Given the description of an element on the screen output the (x, y) to click on. 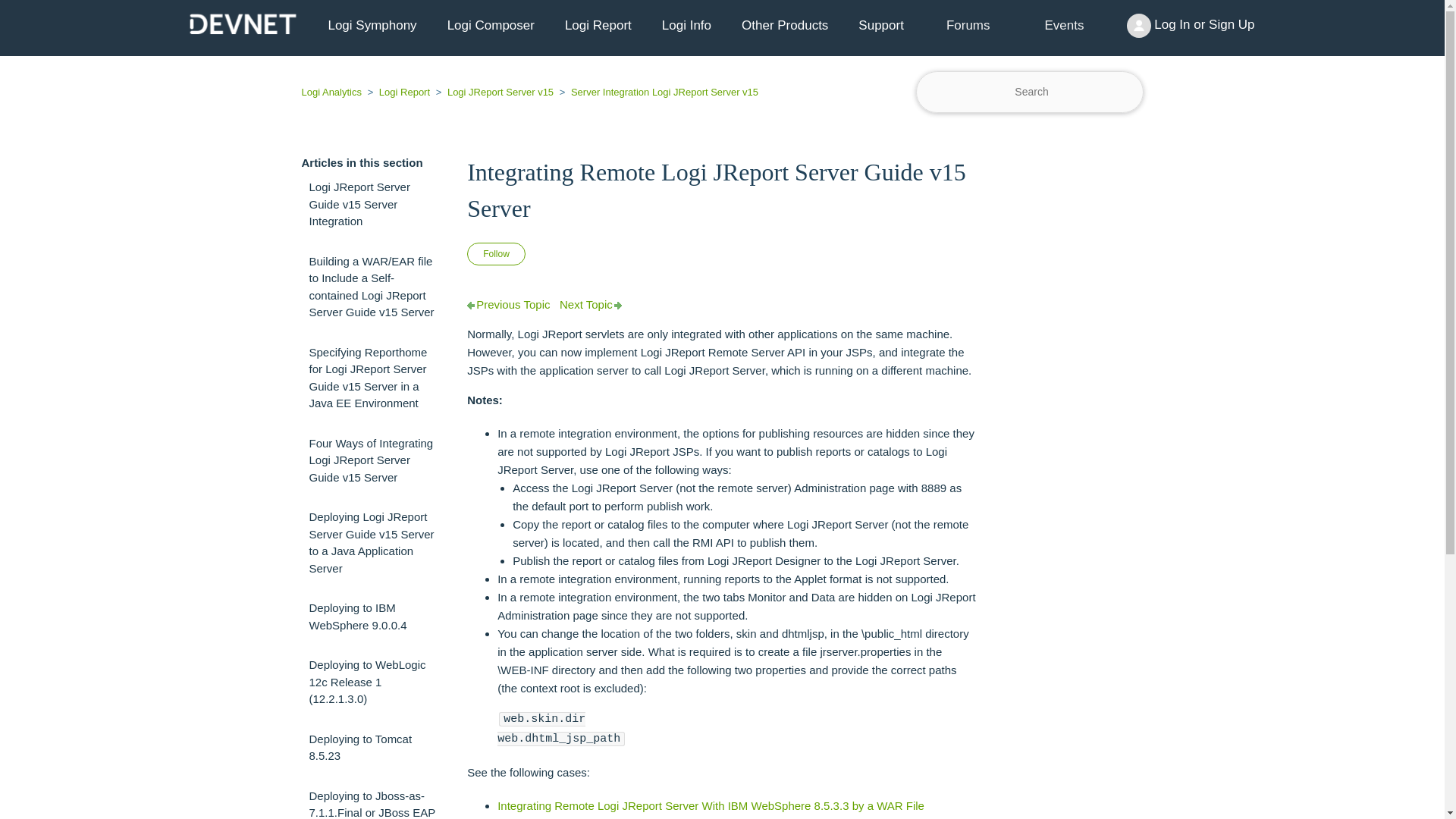
Log In or Sign Up (1190, 25)
Logi Report (398, 91)
Logi Composer (491, 25)
Forums (968, 24)
Events (1064, 25)
Logi Symphony (371, 25)
Logi Analytics (333, 91)
Integrating Remote Logi JReport Server Guide v15 Server (721, 189)
Forums (967, 25)
Support (880, 25)
